Given the description of an element on the screen output the (x, y) to click on. 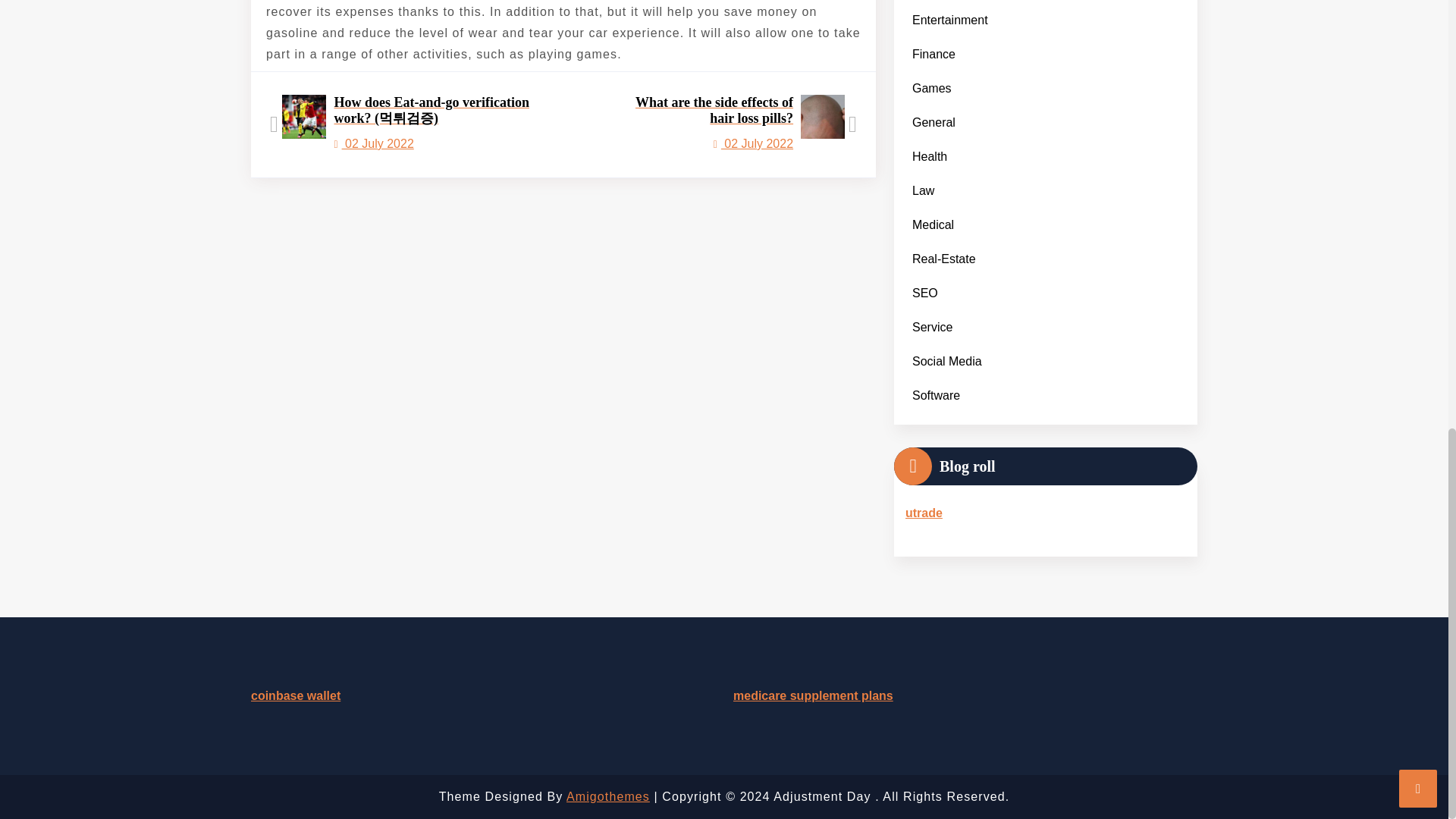
Entertainment (949, 19)
Finance (933, 53)
Games (931, 88)
